Given the description of an element on the screen output the (x, y) to click on. 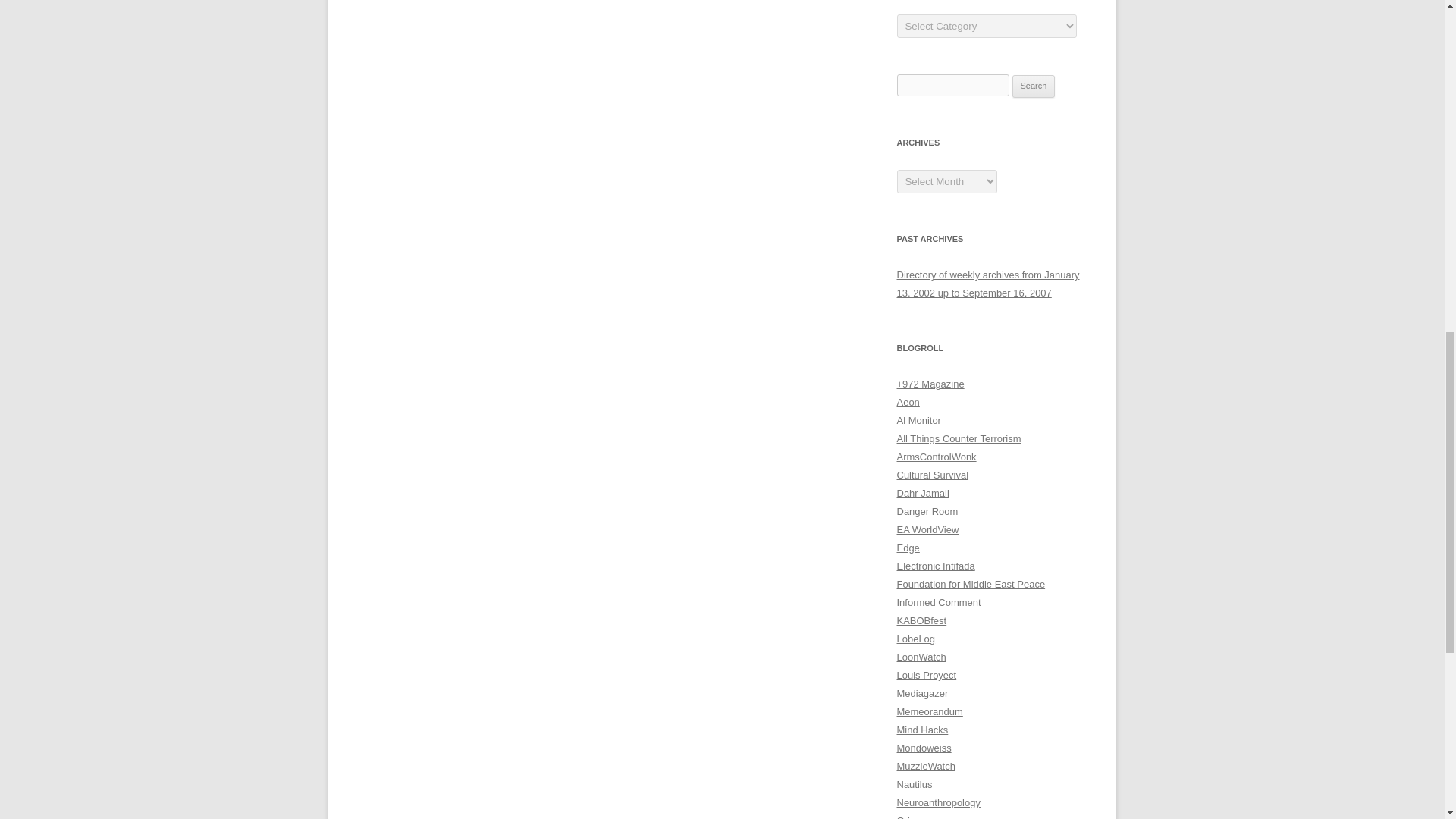
All Things Counter Terrorism (958, 438)
Al Monitor (918, 419)
ArmsControlWonk (935, 456)
Danger Room (927, 511)
EA WorldView (927, 529)
Search (1033, 86)
Jim Lobe and friends on foreign policy (915, 638)
Search (1033, 86)
Cultural Survival (932, 474)
Dahr Jamail (922, 492)
Aeon (907, 401)
